Given the description of an element on the screen output the (x, y) to click on. 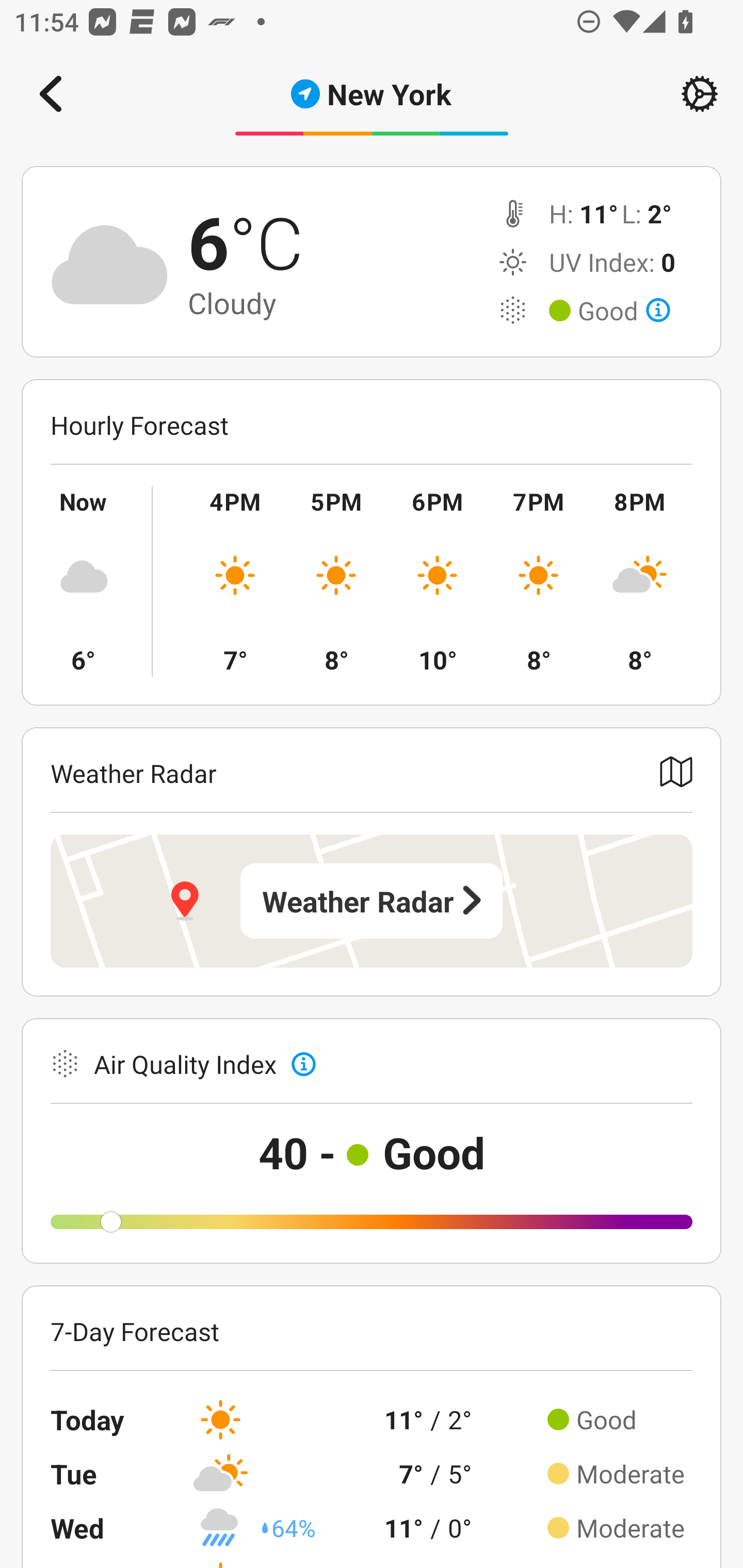
Navigate up (50, 93)
Setting (699, 93)
Good (624, 310)
Weather Radar (371, 900)
